Given the description of an element on the screen output the (x, y) to click on. 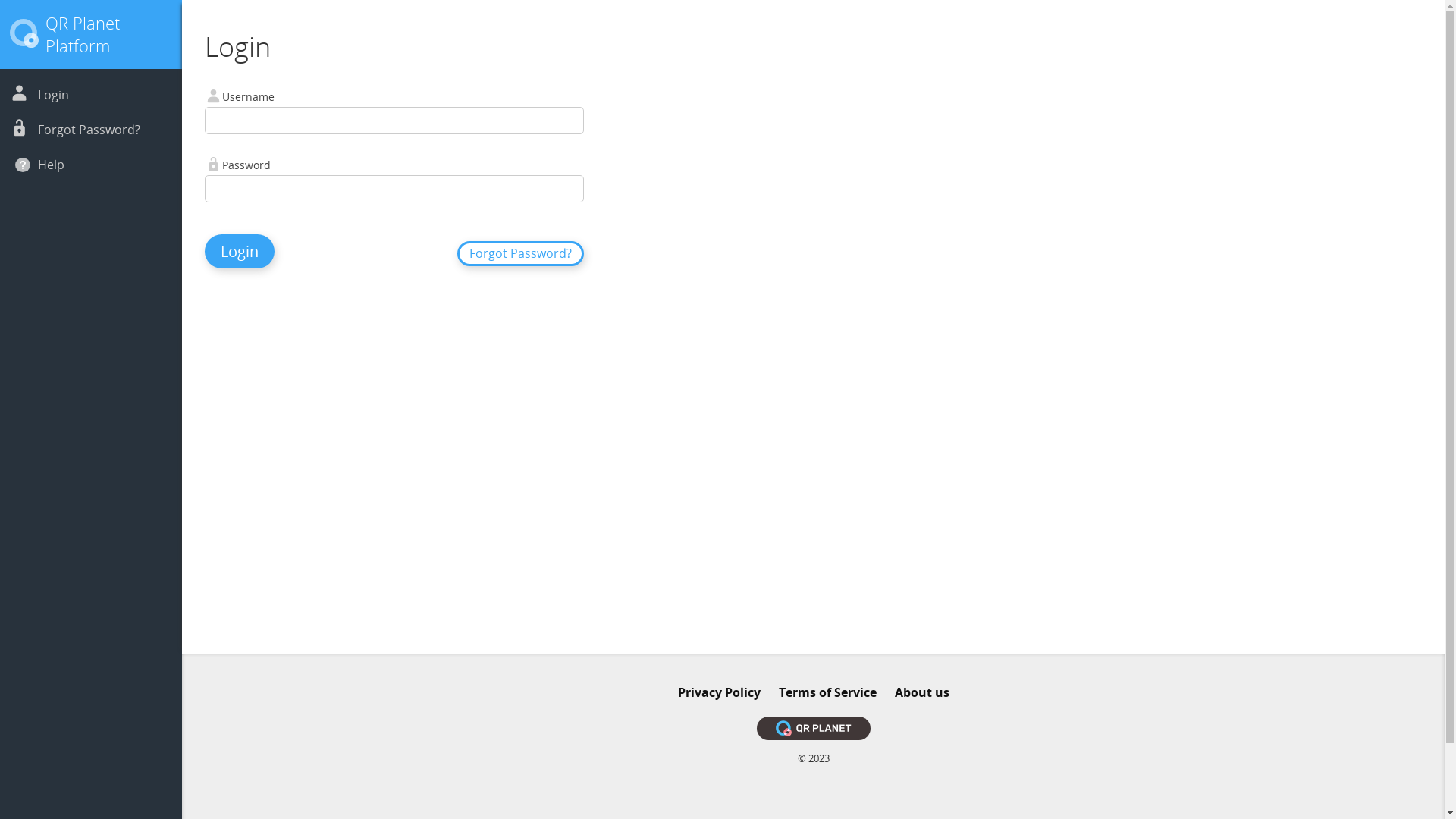
Forgot Password? Element type: text (520, 253)
Privacy Policy Element type: text (718, 692)
Forgot Password? Element type: text (88, 129)
Help Element type: text (51, 164)
Login Element type: text (53, 94)
Login Element type: text (239, 251)
QR Planet Platform Element type: text (82, 33)
About us Element type: text (921, 692)
Terms of Service Element type: text (826, 692)
